Given the description of an element on the screen output the (x, y) to click on. 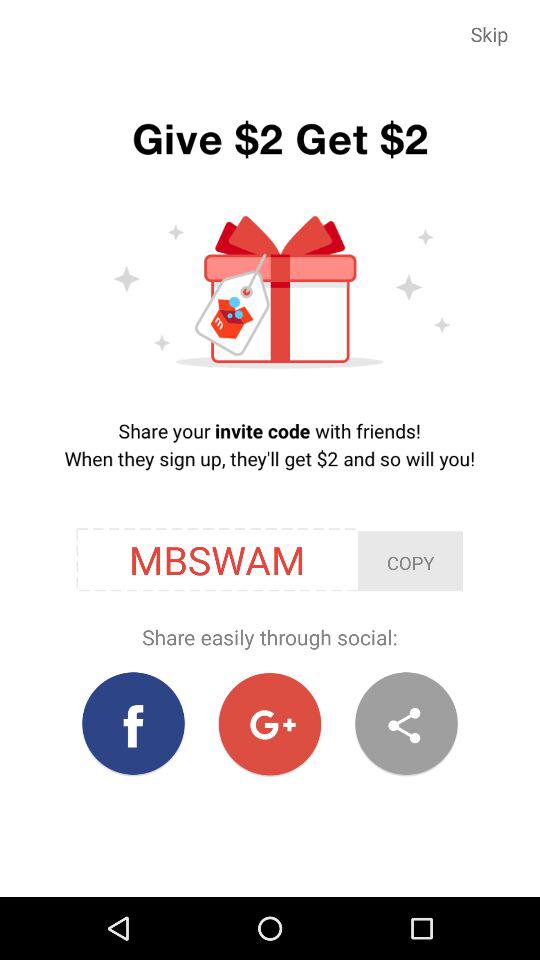
press the icon below the share easily through (133, 724)
